Given the description of an element on the screen output the (x, y) to click on. 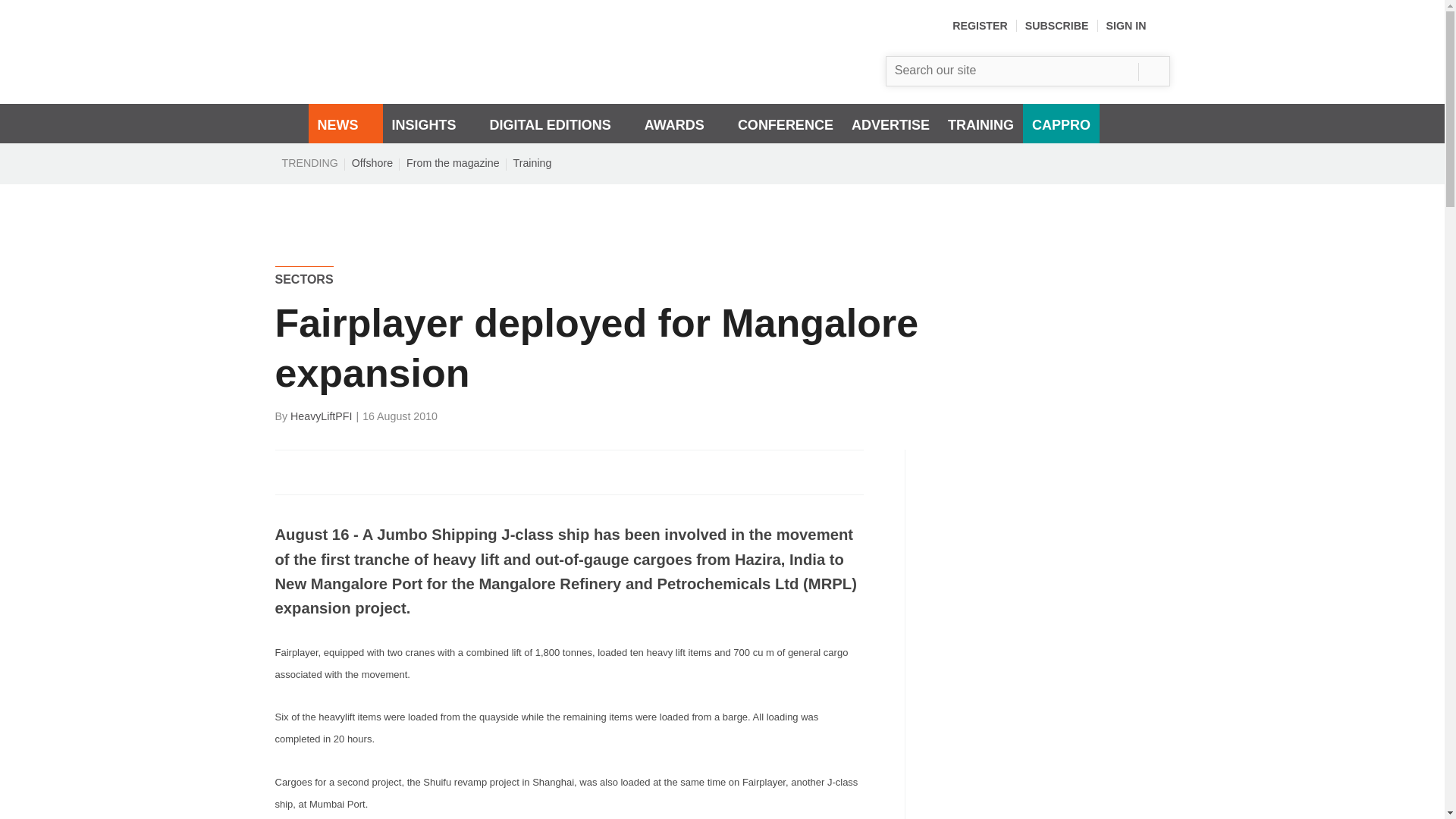
Email this article (386, 471)
Share this on Facebook (288, 471)
Share this on Twitter (320, 471)
Site name (457, 80)
SEARCH (1153, 70)
SIGN IN (1138, 25)
Training (532, 162)
SUBSCRIBE (1057, 25)
Share this on Linked in (352, 471)
REGISTER (979, 25)
